Given the description of an element on the screen output the (x, y) to click on. 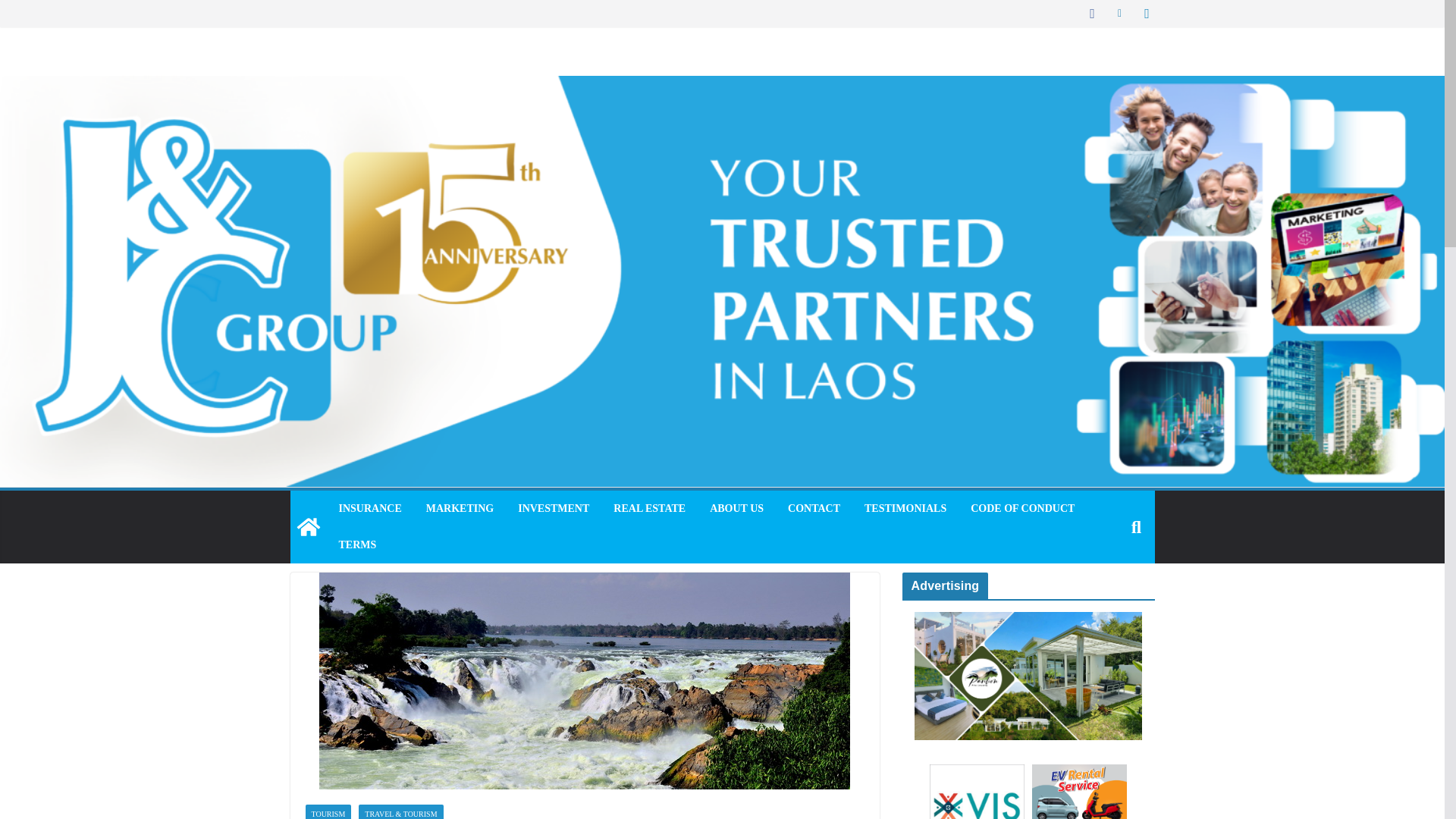
TERMS (356, 545)
CODE OF CONDUCT (1022, 508)
TOURISM (327, 811)
TESTIMONIALS (905, 508)
INVESTMENT (553, 508)
CONTACT (813, 508)
MARKETING (459, 508)
ABOUT US (736, 508)
INSURANCE (369, 508)
REAL ESTATE (648, 508)
